Given the description of an element on the screen output the (x, y) to click on. 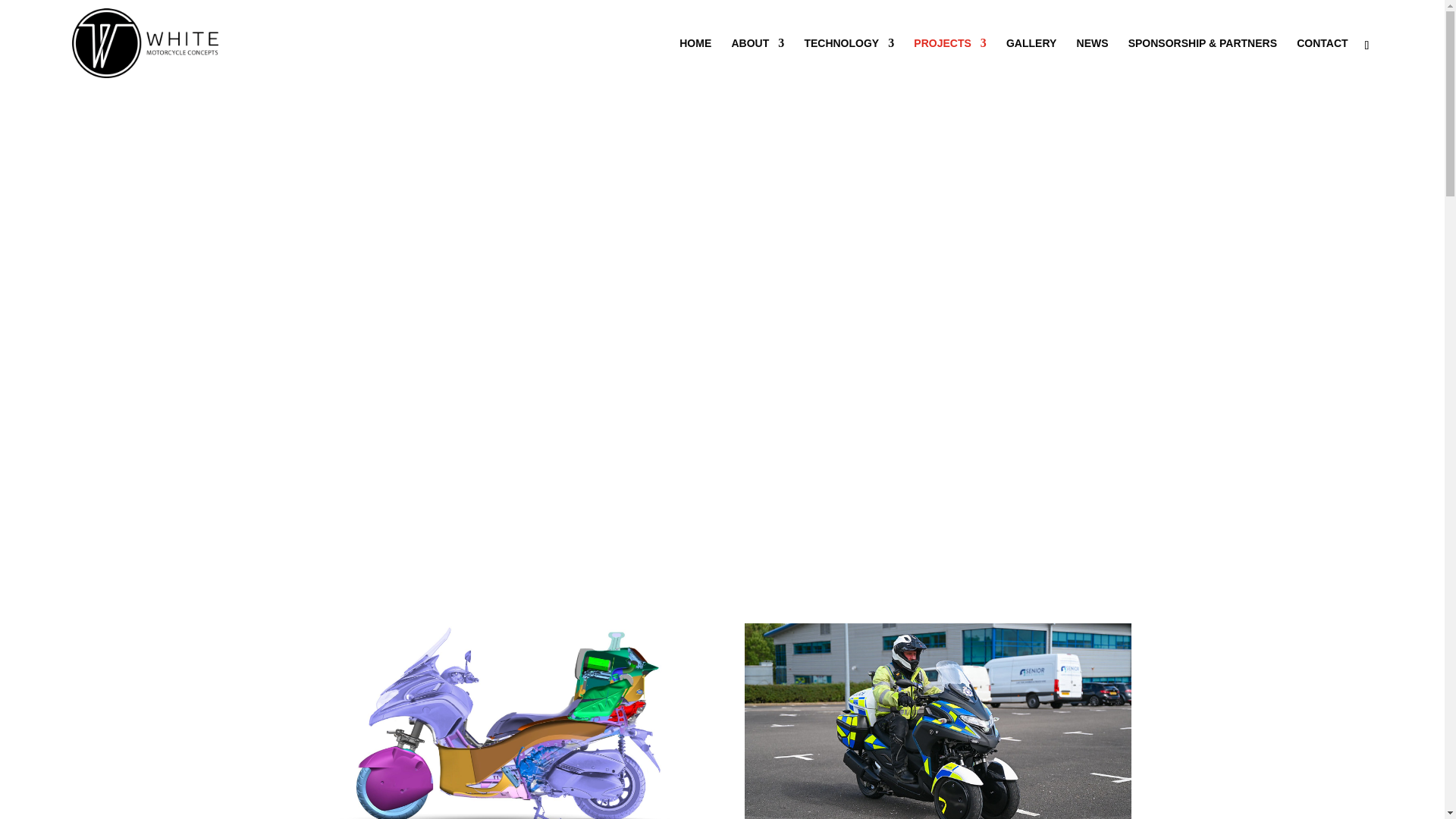
Website Image 1 16 Jan 23 (937, 721)
CONTACT (1322, 61)
PROJECTS (949, 61)
ABOUT (757, 61)
GALLERY (1031, 61)
TECHNOLOGY (848, 61)
